Given the description of an element on the screen output the (x, y) to click on. 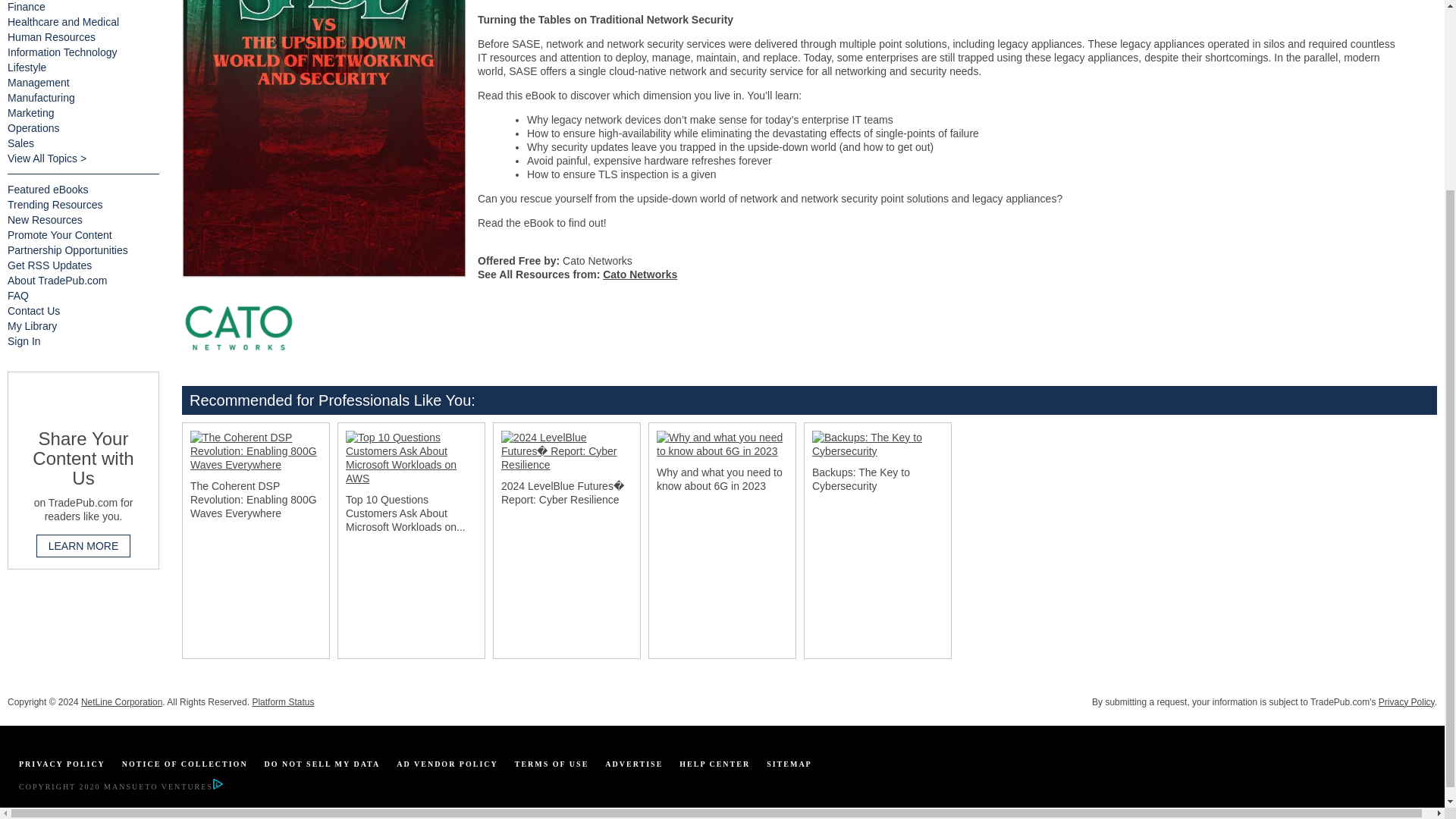
Read more about your Ad Choices (217, 786)
Get more information about Notice of collection on Inc.com (184, 764)
Get more information about terms of use on Inc.com (552, 764)
Get more information about Advertise on Inc.com (633, 764)
Get more information about Ad vendor policy on Inc.com (446, 764)
Get more information about help Center on Inc.com (714, 764)
Get more information about do not sell my data on Inc.com (322, 764)
Get more information about sitemap on Inc.com (789, 764)
Get more information about Privacy policy on Inc.com (61, 764)
